Given the description of an element on the screen output the (x, y) to click on. 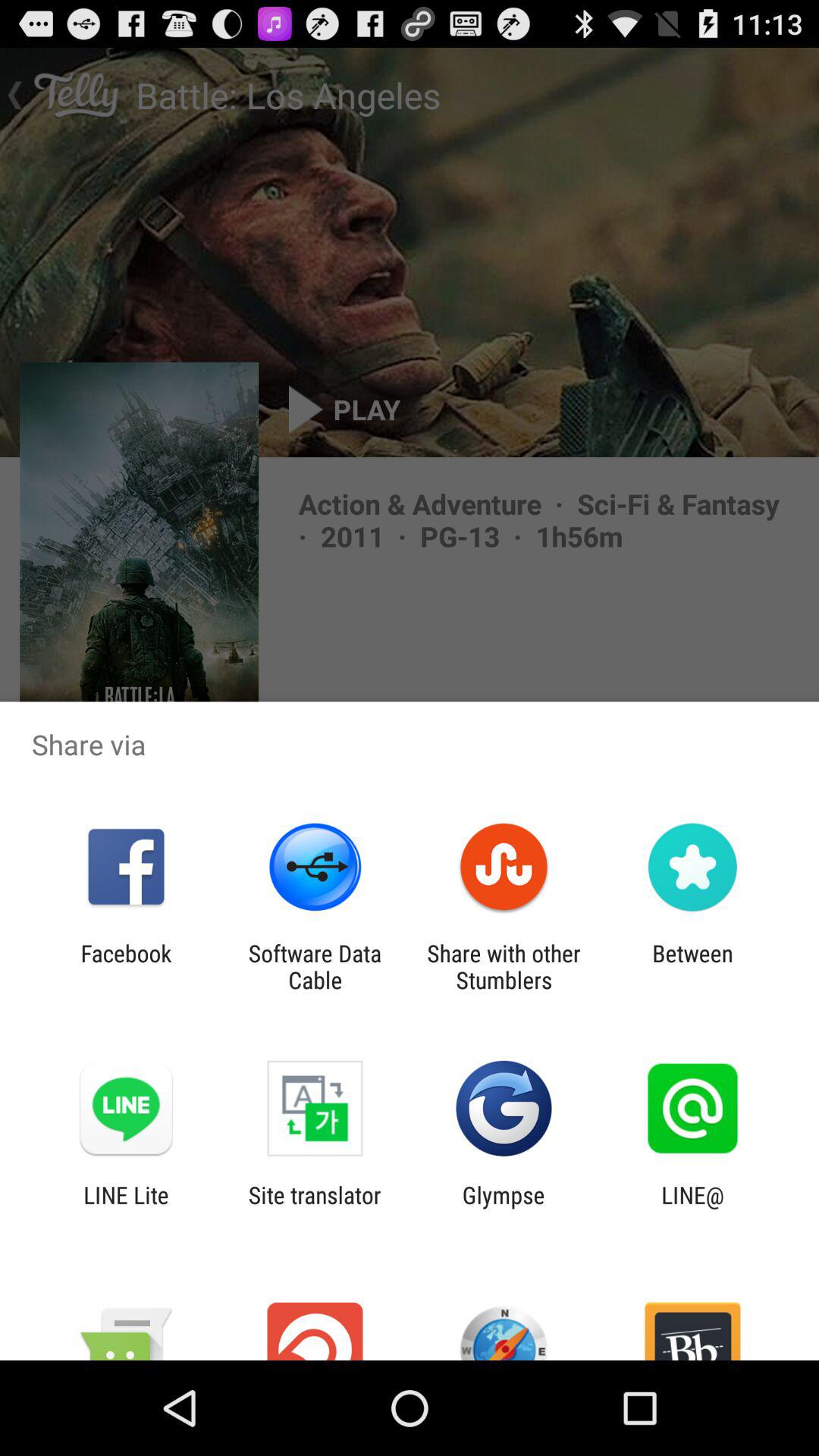
flip to the glympse item (503, 1208)
